Given the description of an element on the screen output the (x, y) to click on. 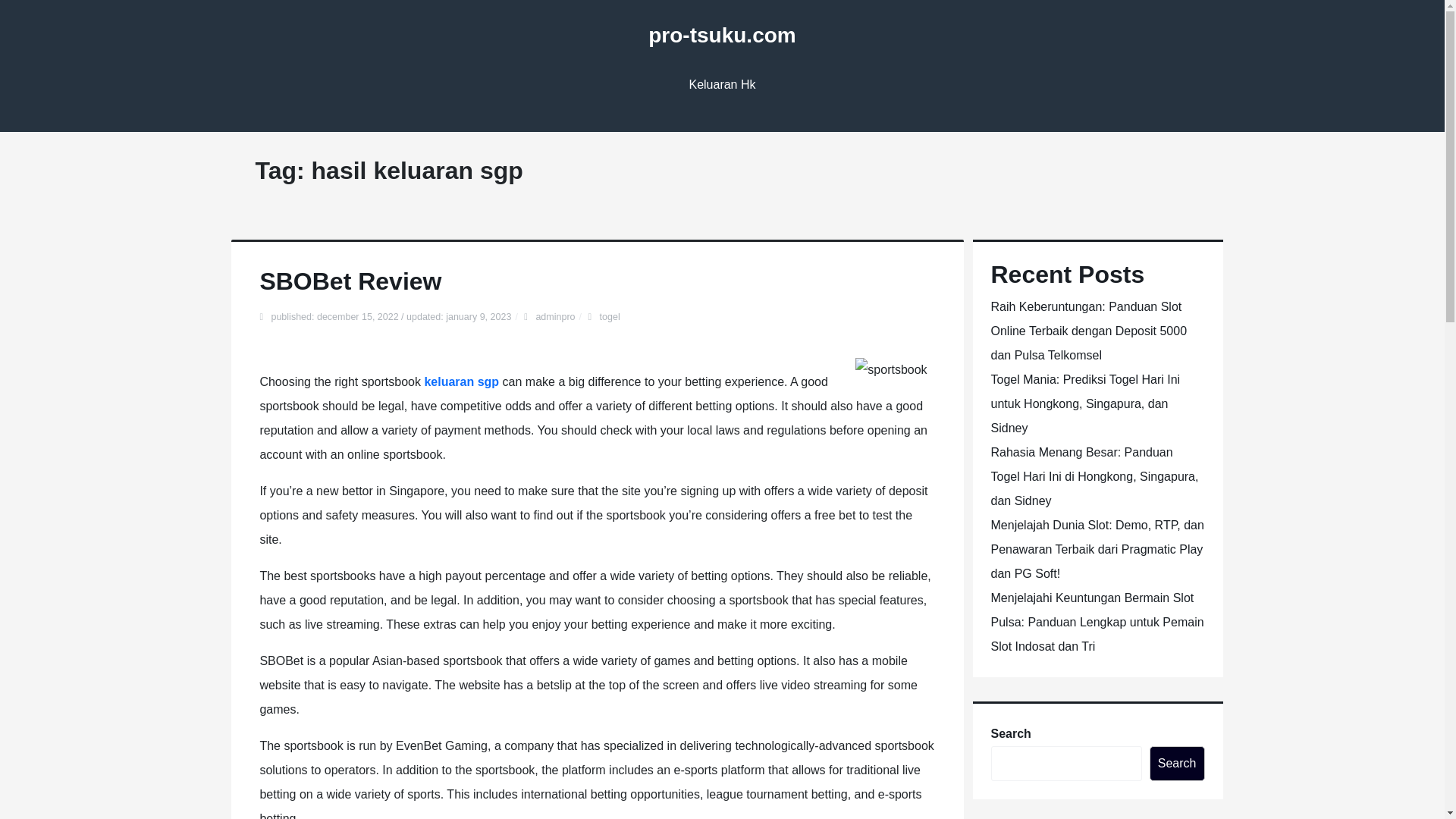
togel (609, 317)
pro-tsuku.com (720, 34)
Keluaran Hk (721, 84)
keluaran sgp (461, 381)
Search (1177, 763)
adminpro (555, 317)
SBOBet Review (350, 280)
Keluaran Hk (721, 84)
